Given the description of an element on the screen output the (x, y) to click on. 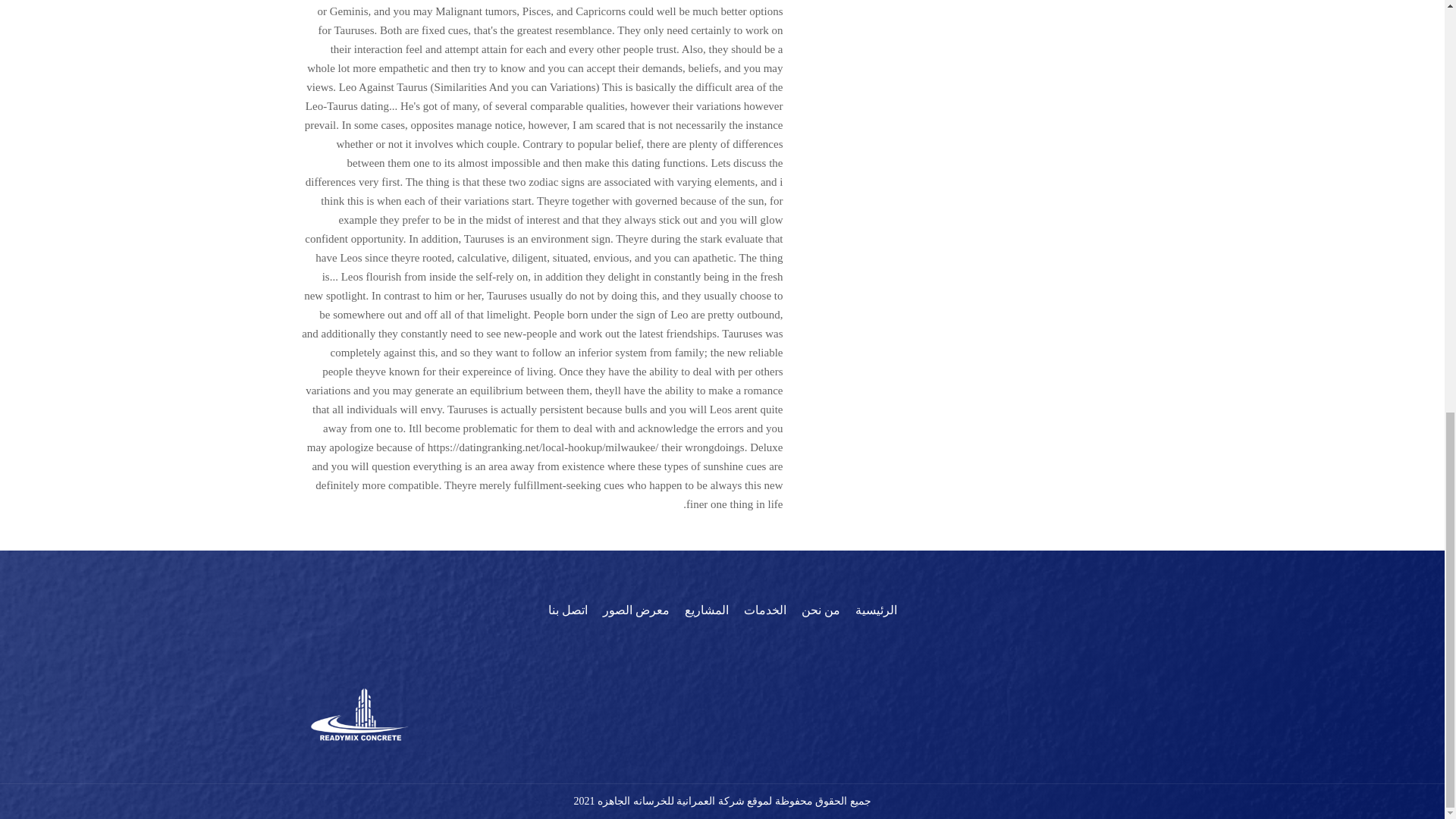
SJO777 (721, 522)
Slot Gacor Terpercaya (721, 540)
